Given the description of an element on the screen output the (x, y) to click on. 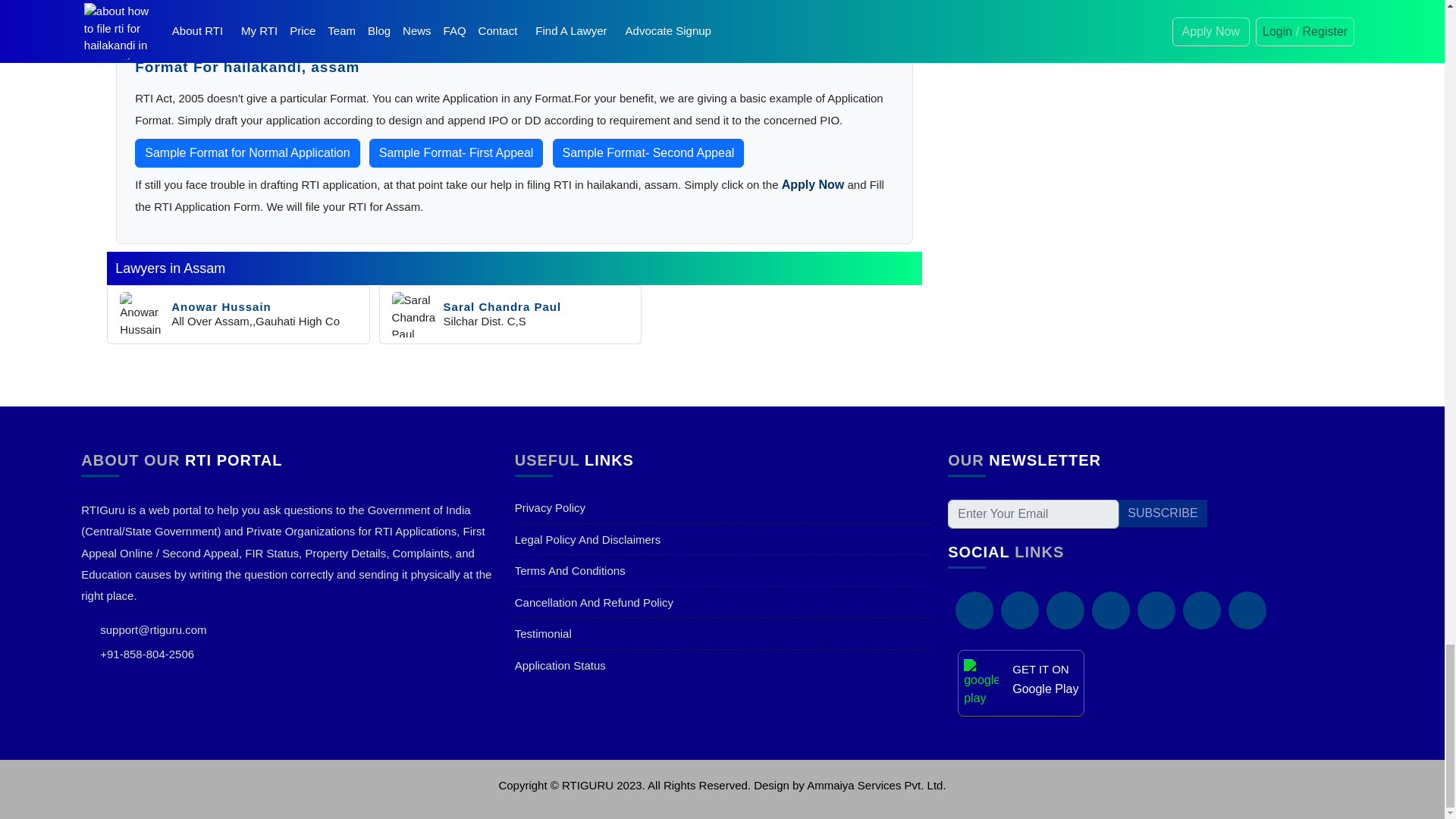
facebook (973, 610)
twitter (1065, 610)
pinterest (1110, 610)
linkedin (1020, 610)
youtube (1247, 610)
instagram (1201, 610)
quora (1155, 610)
